Given the description of an element on the screen output the (x, y) to click on. 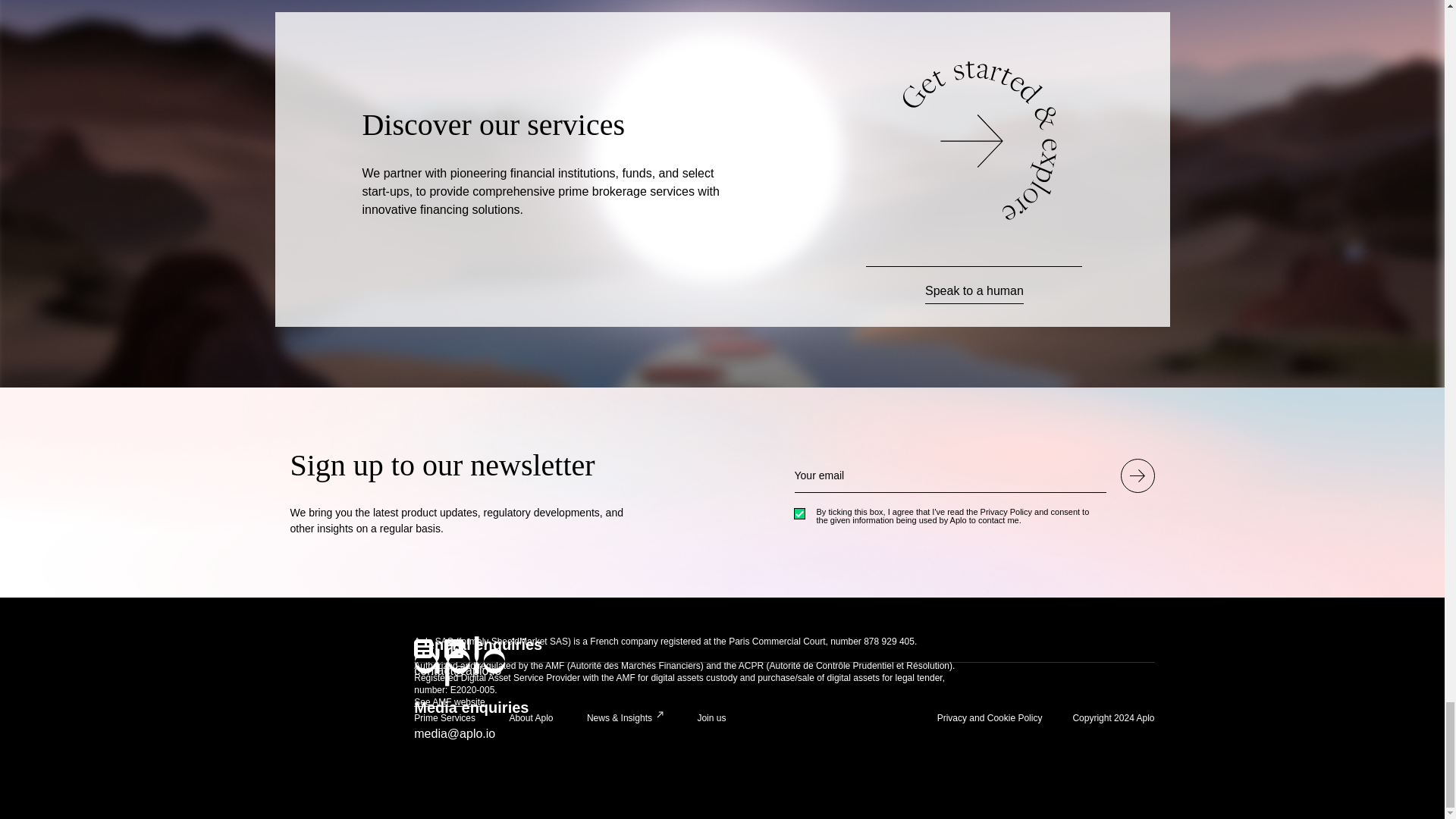
Join us (711, 717)
Medium (422, 648)
Privacy and Cookie Policy (989, 717)
About Aplo (530, 717)
Submit (1137, 475)
Prime Services (444, 717)
See AMF website (448, 701)
Submit (1137, 475)
Linkedin (453, 648)
Aplo (460, 661)
Speak to a human (973, 292)
